Given the description of an element on the screen output the (x, y) to click on. 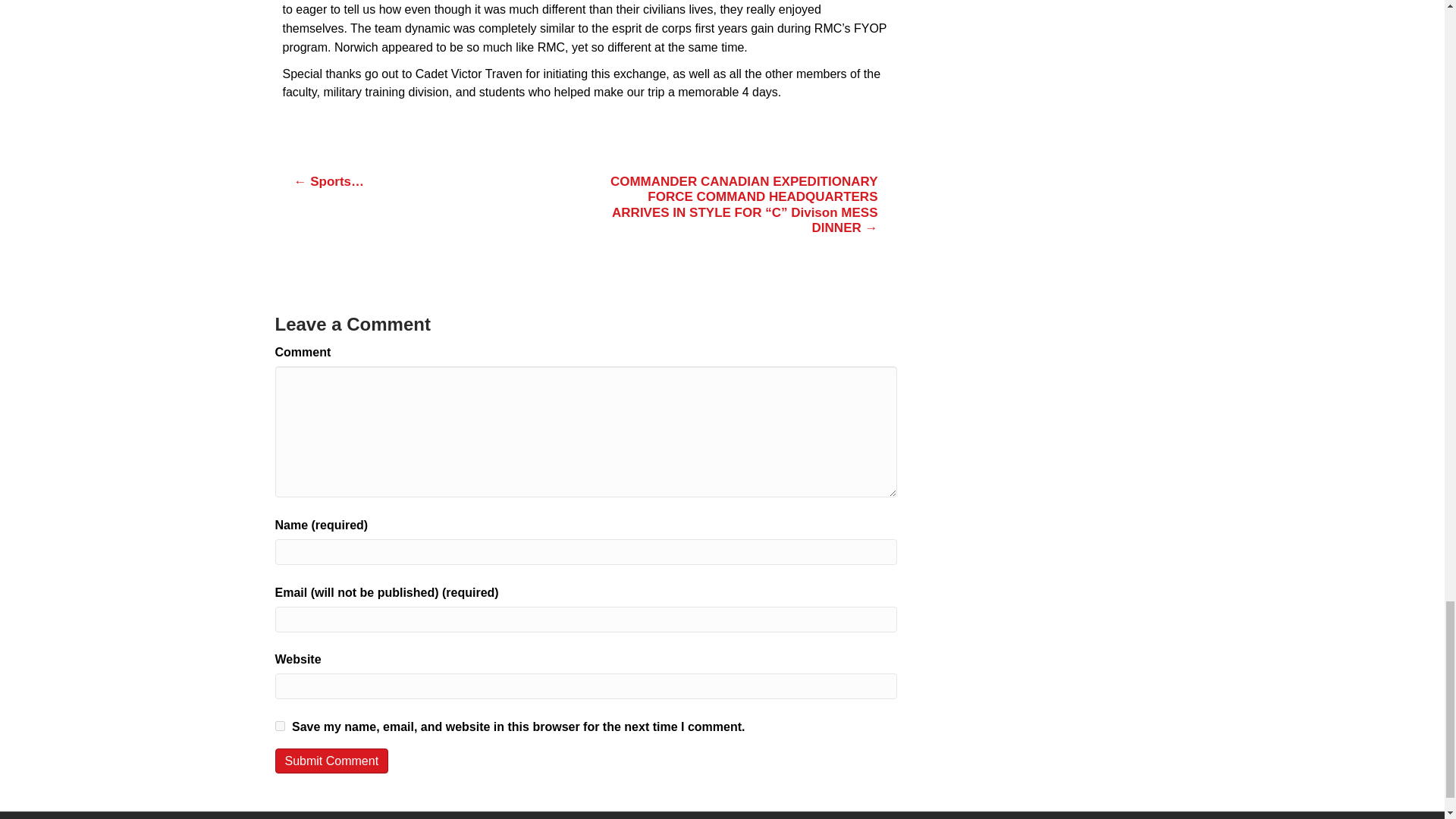
yes (279, 726)
Submit Comment (331, 760)
Submit Comment (331, 760)
